Given the description of an element on the screen output the (x, y) to click on. 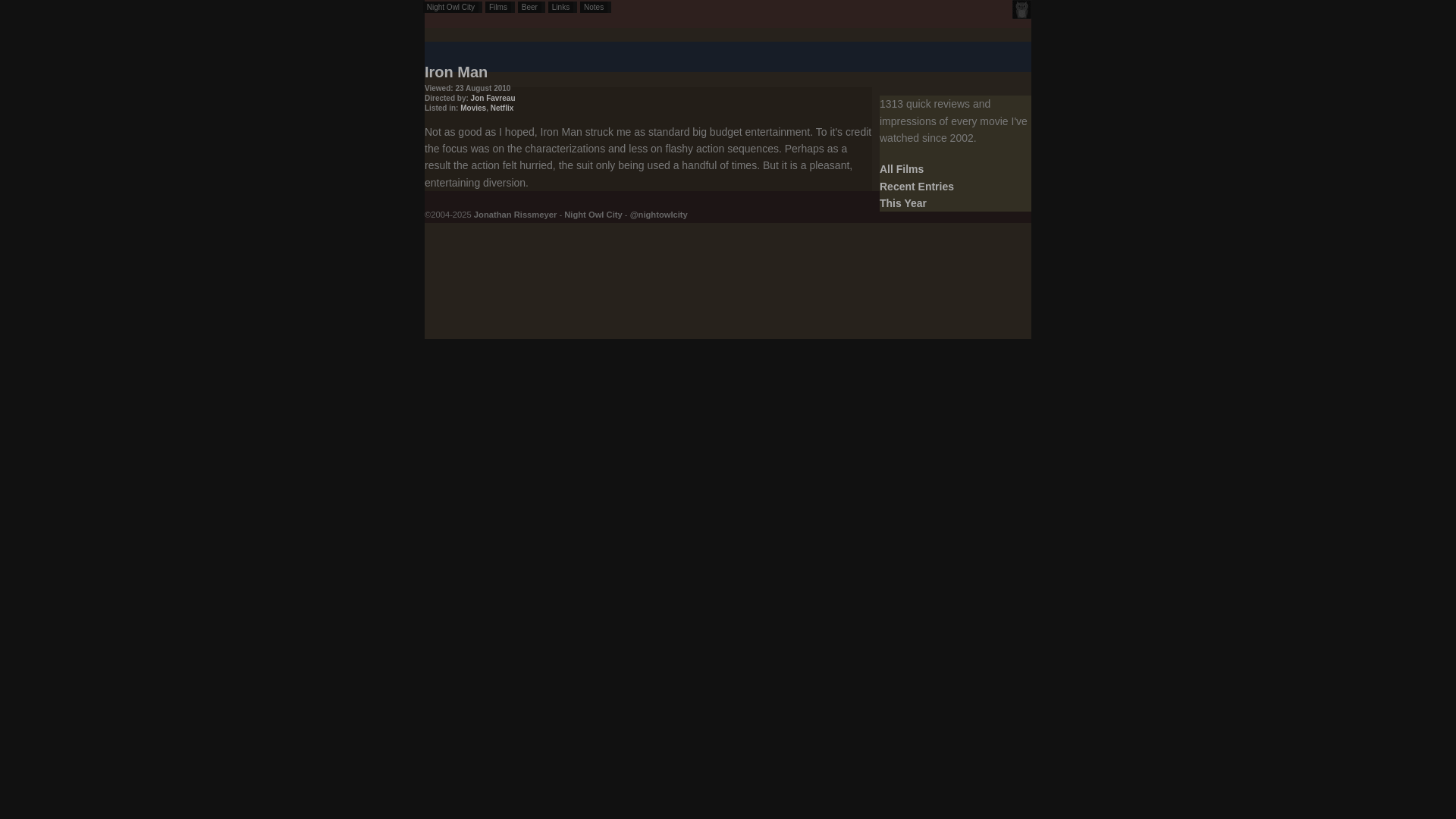
Night Owl City (592, 214)
Beer (531, 7)
Night Owl (1020, 9)
Films (499, 7)
Movies (473, 108)
This Year (902, 203)
Links (562, 7)
Iron Man (456, 71)
Notes (595, 7)
Netflix (501, 108)
All Films (901, 168)
Recent Entries (916, 186)
Jonathan Rissmeyer (515, 214)
Jon Favreau (492, 98)
Night Owl City (452, 7)
